Given the description of an element on the screen output the (x, y) to click on. 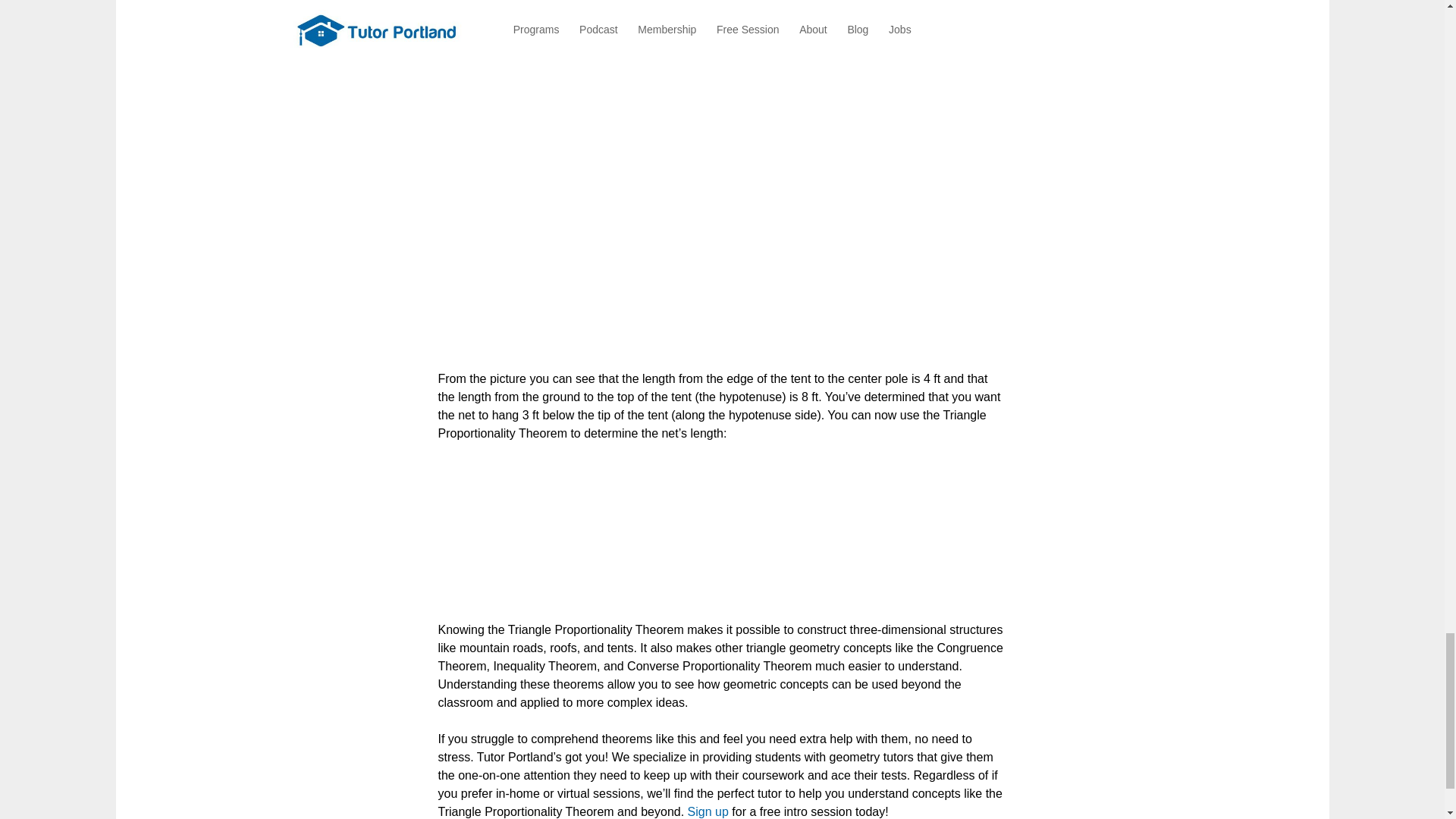
Sign up (708, 811)
